Given the description of an element on the screen output the (x, y) to click on. 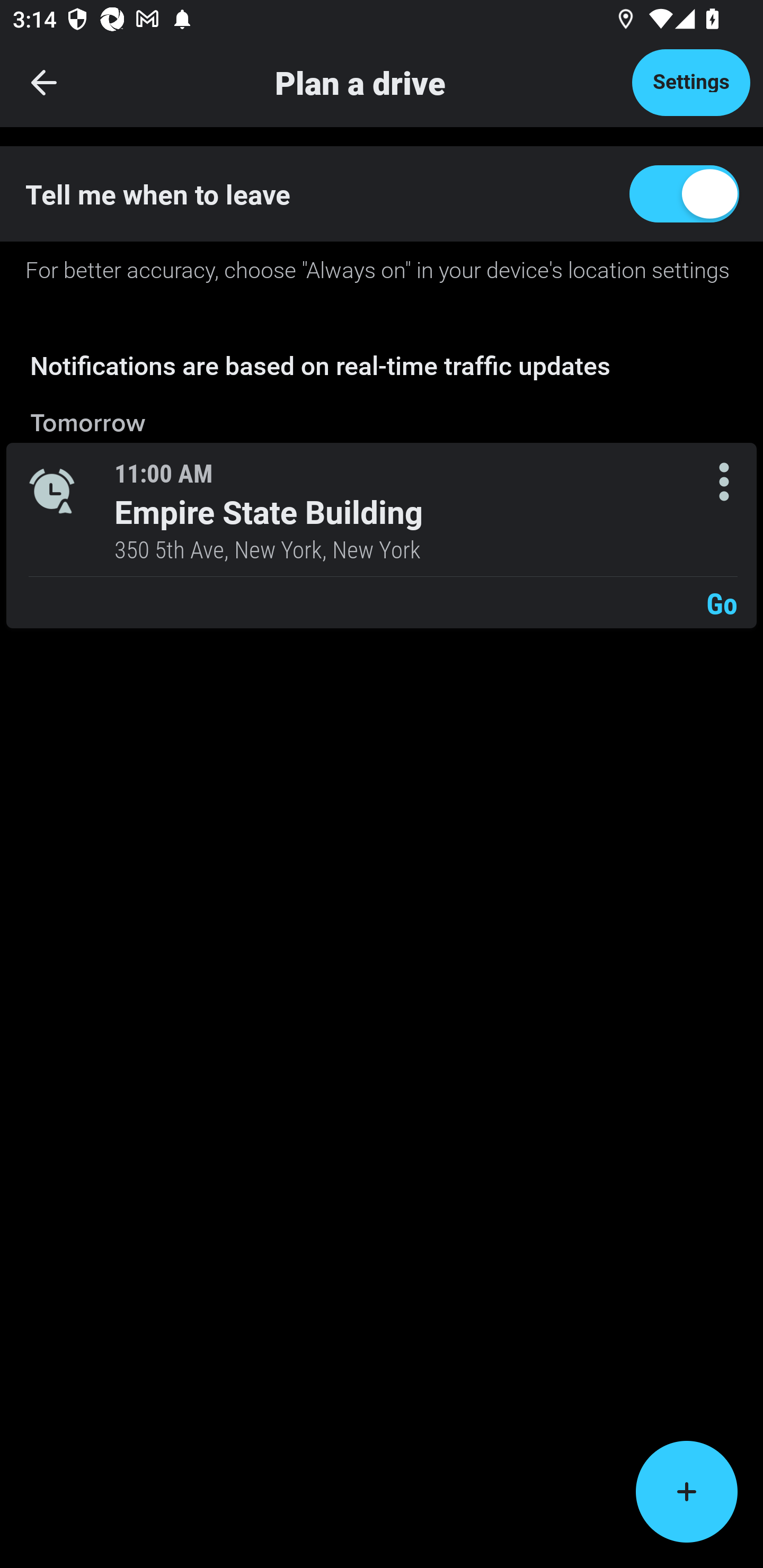
Settings (690, 82)
test View profile (381, 266)
